Given the description of an element on the screen output the (x, y) to click on. 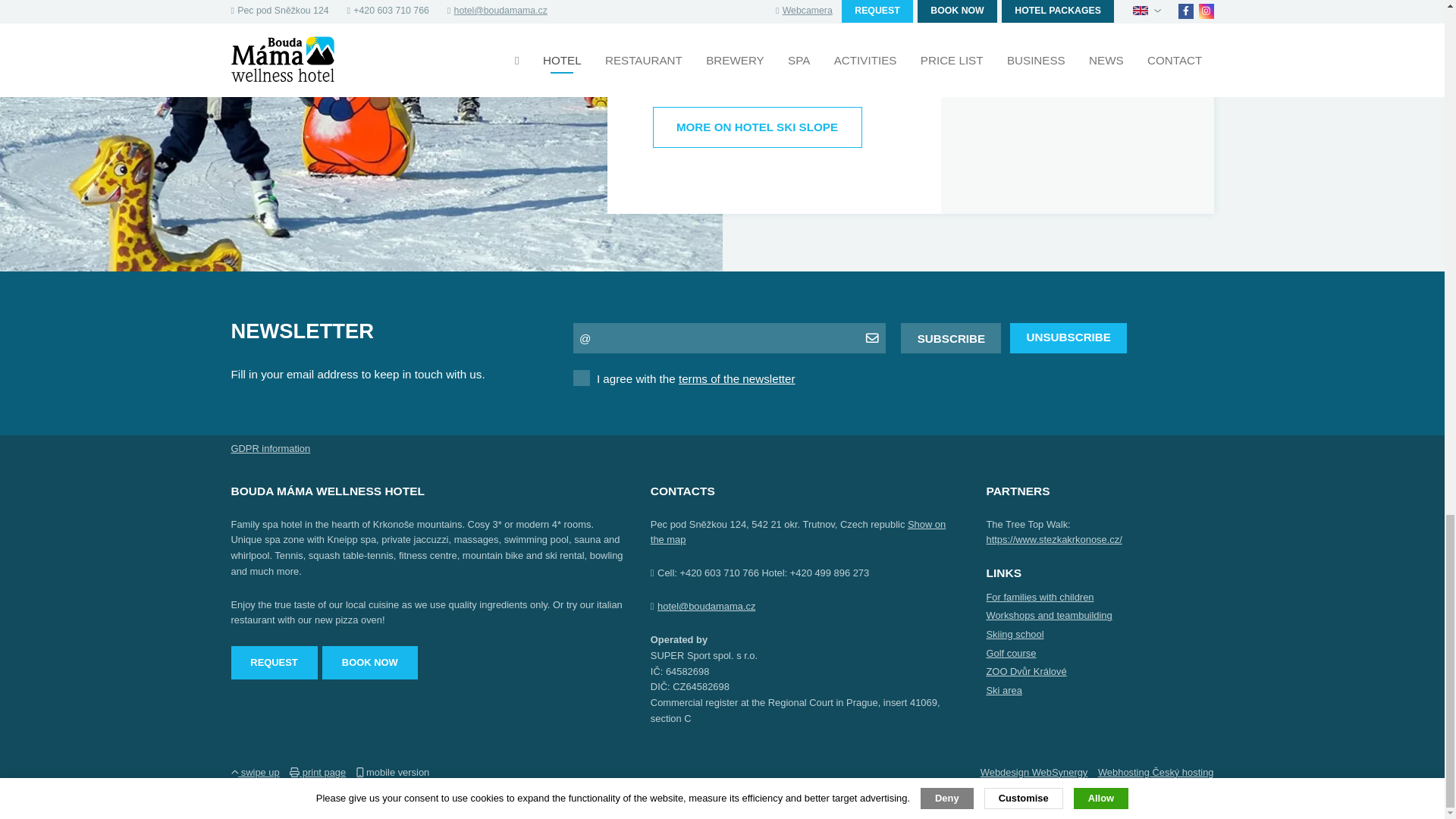
swipe up (254, 772)
